Given the description of an element on the screen output the (x, y) to click on. 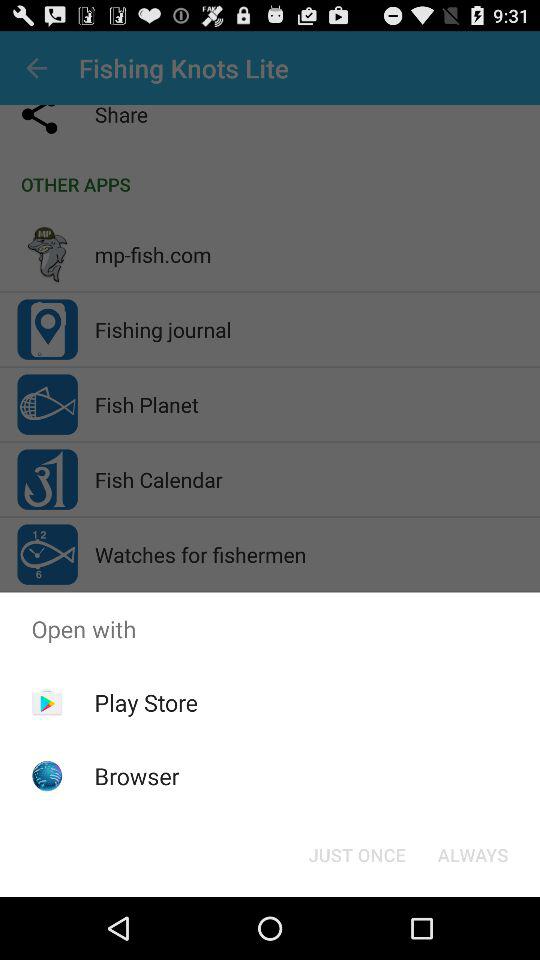
select button to the right of the just once button (472, 854)
